Given the description of an element on the screen output the (x, y) to click on. 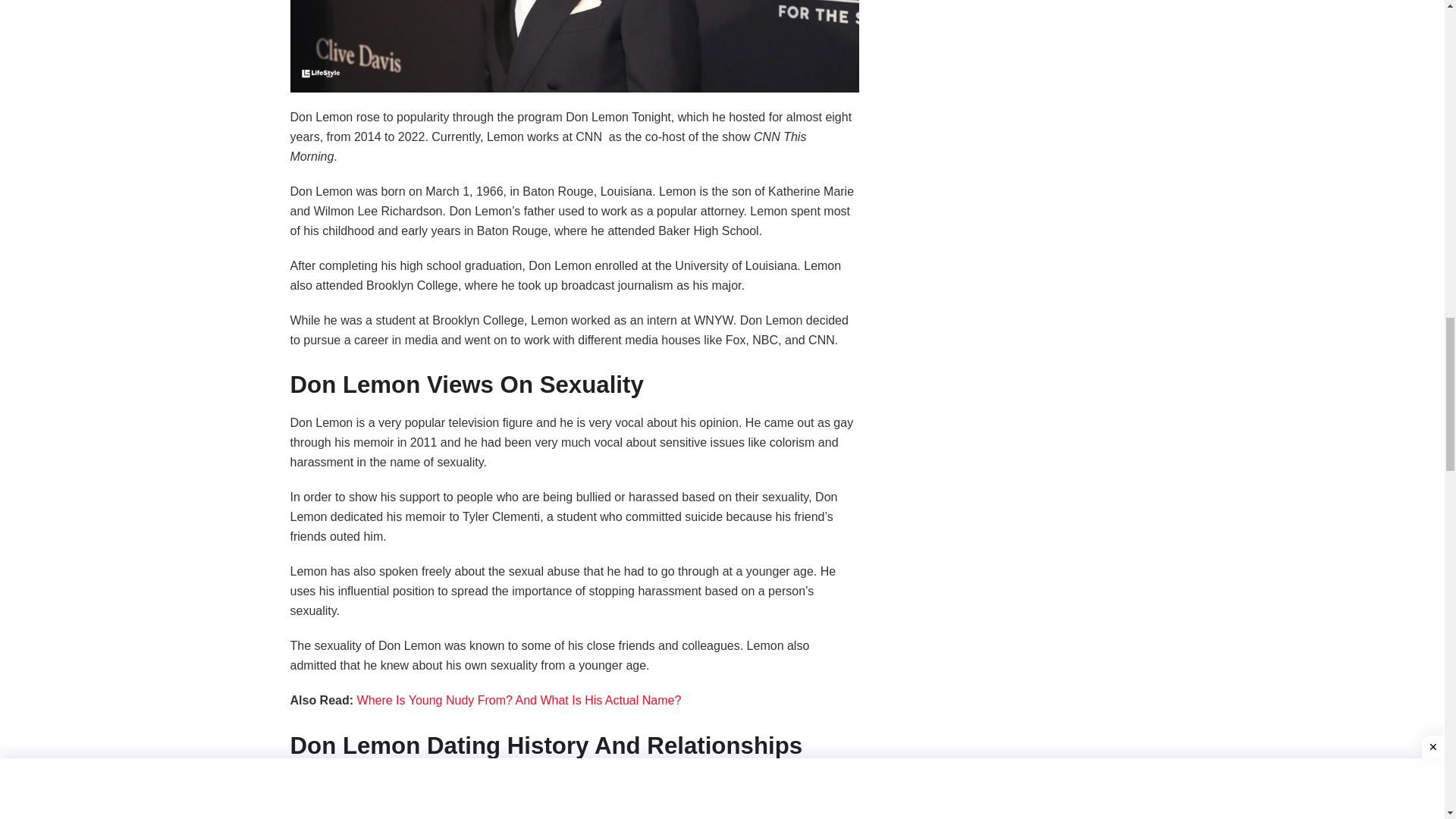
Where Is Young Nudy From? And What Is His Actual Name? (518, 699)
